Given the description of an element on the screen output the (x, y) to click on. 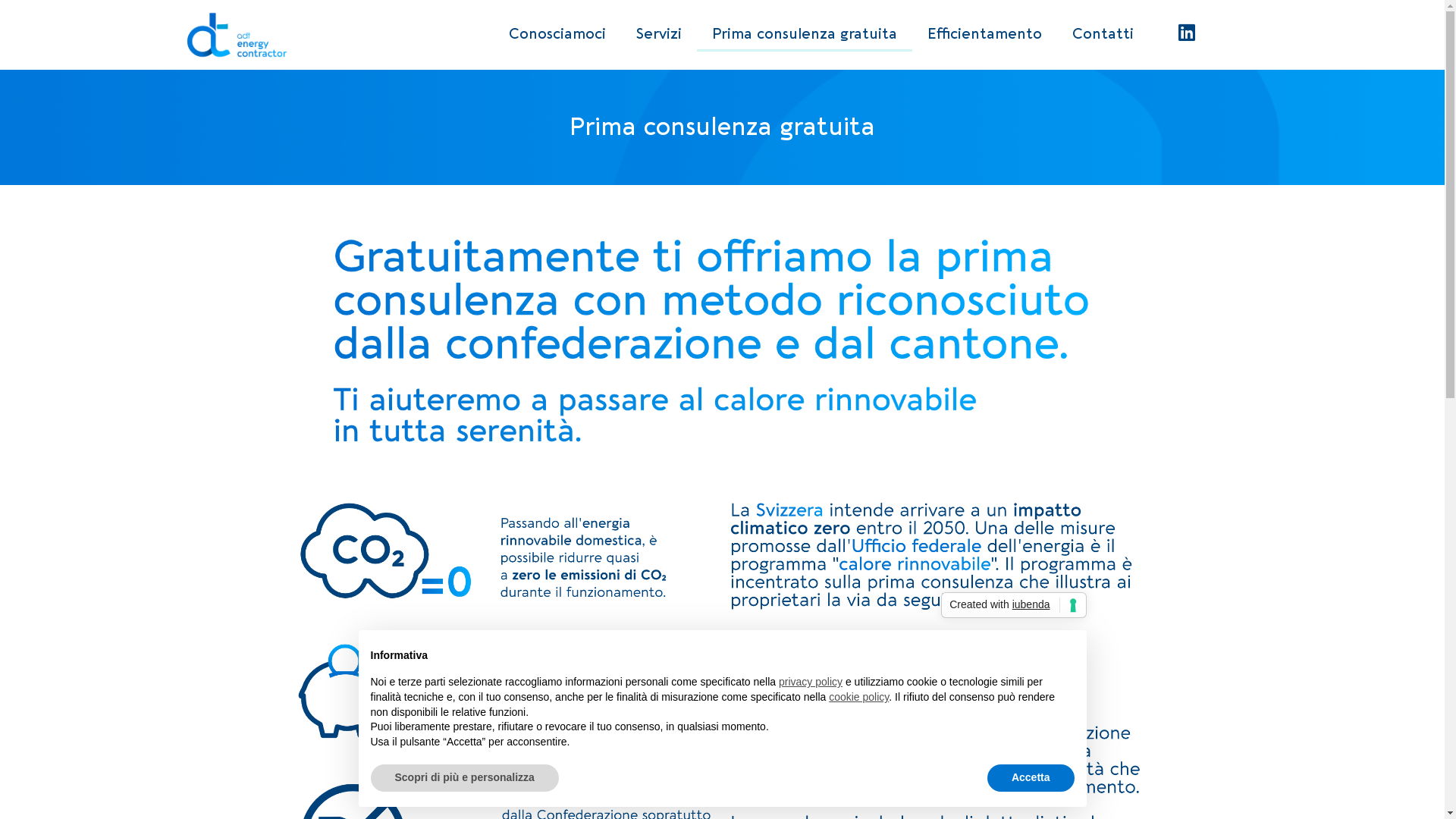
Conosciamoci Element type: text (557, 33)
Contatti Element type: text (1102, 33)
cookie policy Element type: text (858, 696)
Prima consulenza gratuita Element type: text (804, 33)
privacy policy Element type: text (810, 681)
Servizi Element type: text (658, 33)
Accetta Element type: text (1030, 777)
Efficientamento Element type: text (984, 33)
Created with iubenda Element type: text (1013, 605)
